Given the description of an element on the screen output the (x, y) to click on. 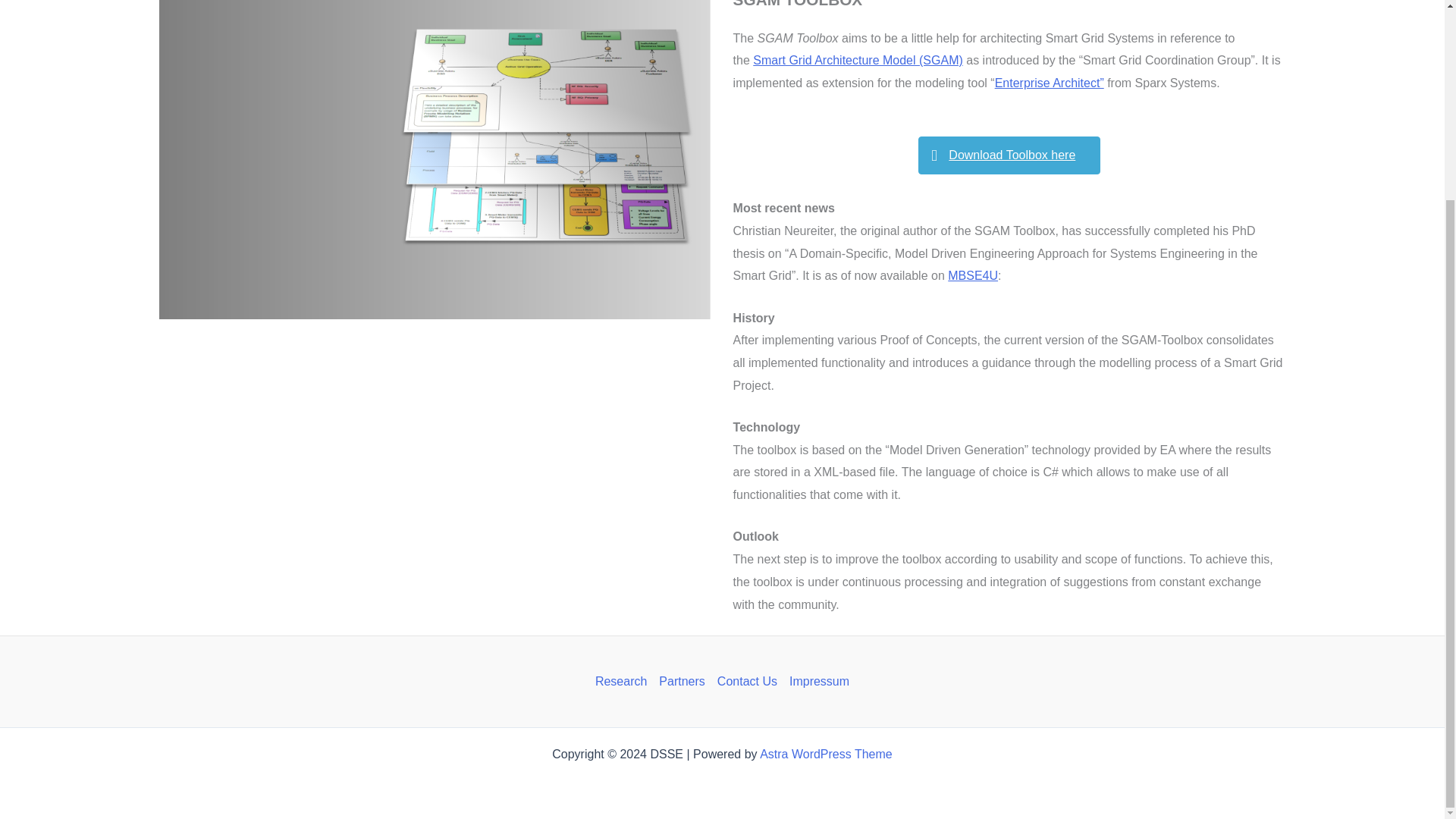
Partners (681, 681)
Astra WordPress Theme (826, 753)
Research (623, 681)
Impressum (815, 681)
Download Toolbox here (1009, 155)
Contact Us (747, 681)
MBSE4U (972, 275)
